Given the description of an element on the screen output the (x, y) to click on. 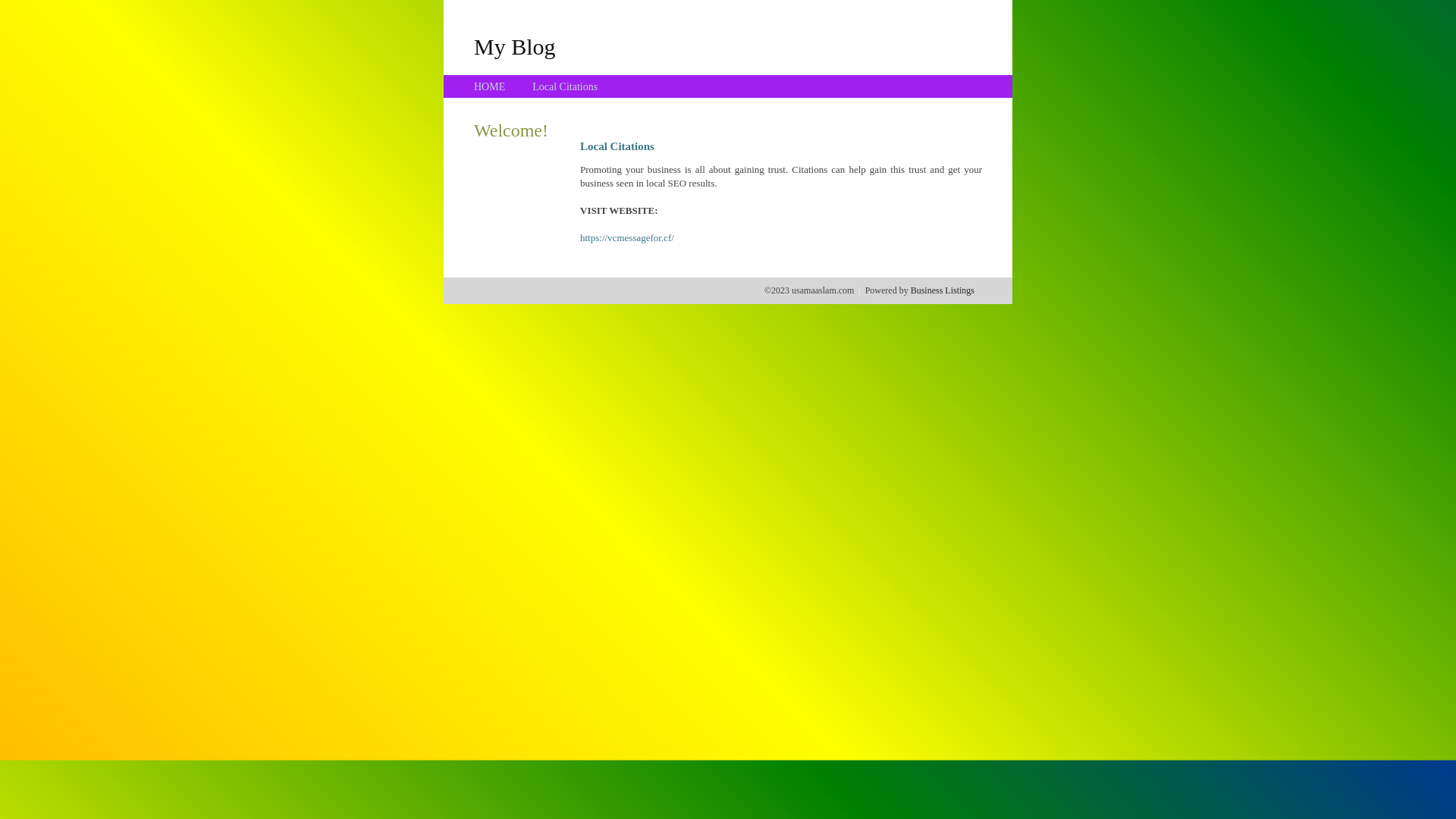
Business Listings Element type: text (942, 290)
My Blog Element type: text (514, 46)
https://vcmessagefor.cf/ Element type: text (627, 237)
Local Citations Element type: text (564, 86)
HOME Element type: text (489, 86)
